Given the description of an element on the screen output the (x, y) to click on. 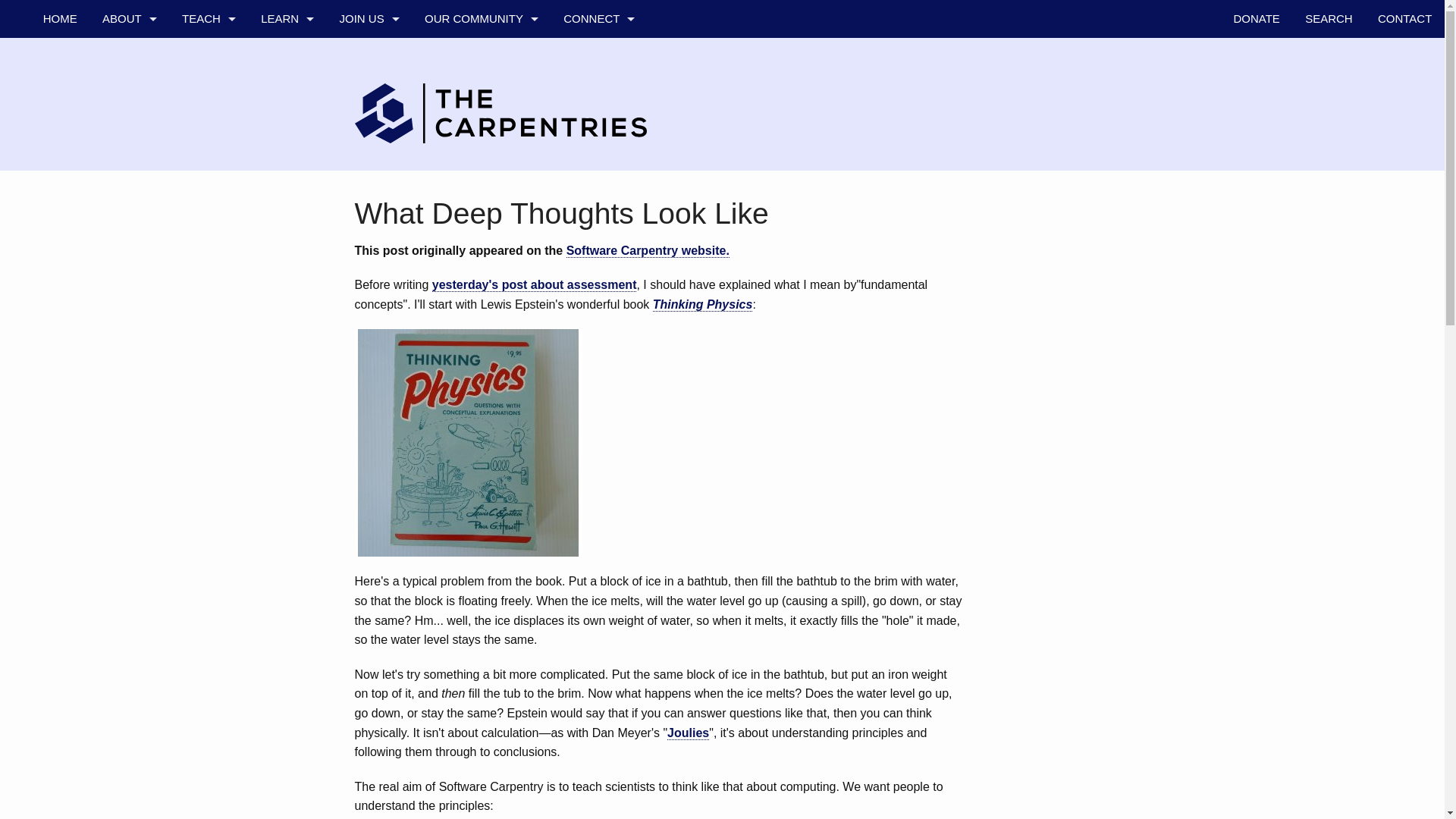
DONATE (1256, 18)
LIBRARY CARPENTRY LESSONS (207, 170)
EQUITY, INCLUSION, AND ACCESSIBILITY (128, 322)
ABOUT US (128, 56)
COMMUNITY LESSONS (207, 208)
BECOME A SPONSOR (369, 170)
OUR IMPACT (286, 208)
FOR INSTRUCTORS (207, 284)
HELP DEVELOP LESSONS (369, 94)
BECOME A MEMBER ORGANISATION (369, 132)
